Given the description of an element on the screen output the (x, y) to click on. 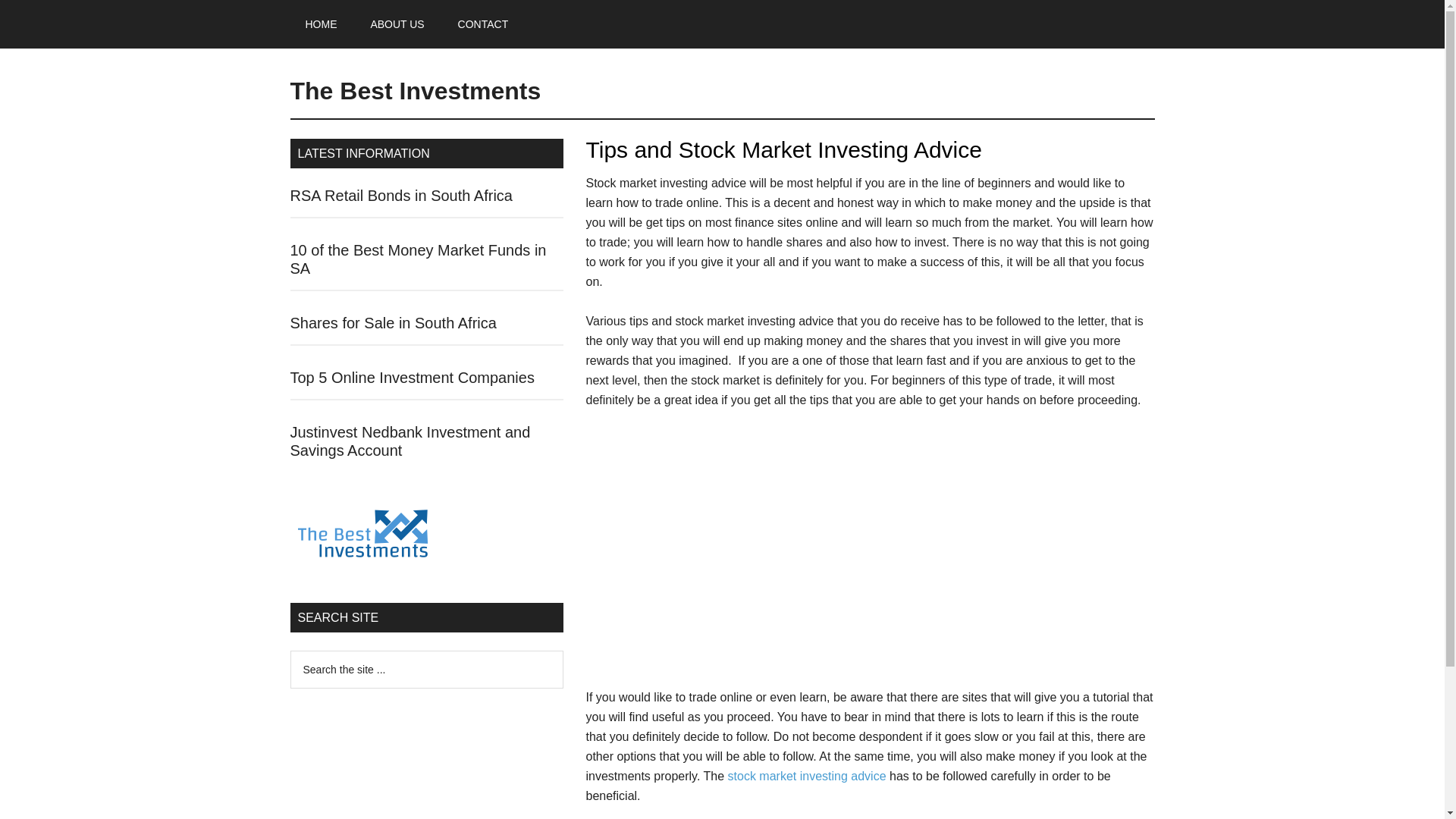
RSA Retail Bonds in South Africa (400, 195)
Shares for Sale in South Africa (392, 322)
HOME (320, 24)
The Best Investments (414, 90)
ABOUT US (397, 24)
Justinvest Nedbank Investment and Savings Account (409, 441)
Advertisement (869, 555)
stock market investing advice (807, 775)
10 of the Best Money Market Funds in SA (417, 258)
Top 5 Online Investment Companies (411, 377)
CONTACT (483, 24)
